Given the description of an element on the screen output the (x, y) to click on. 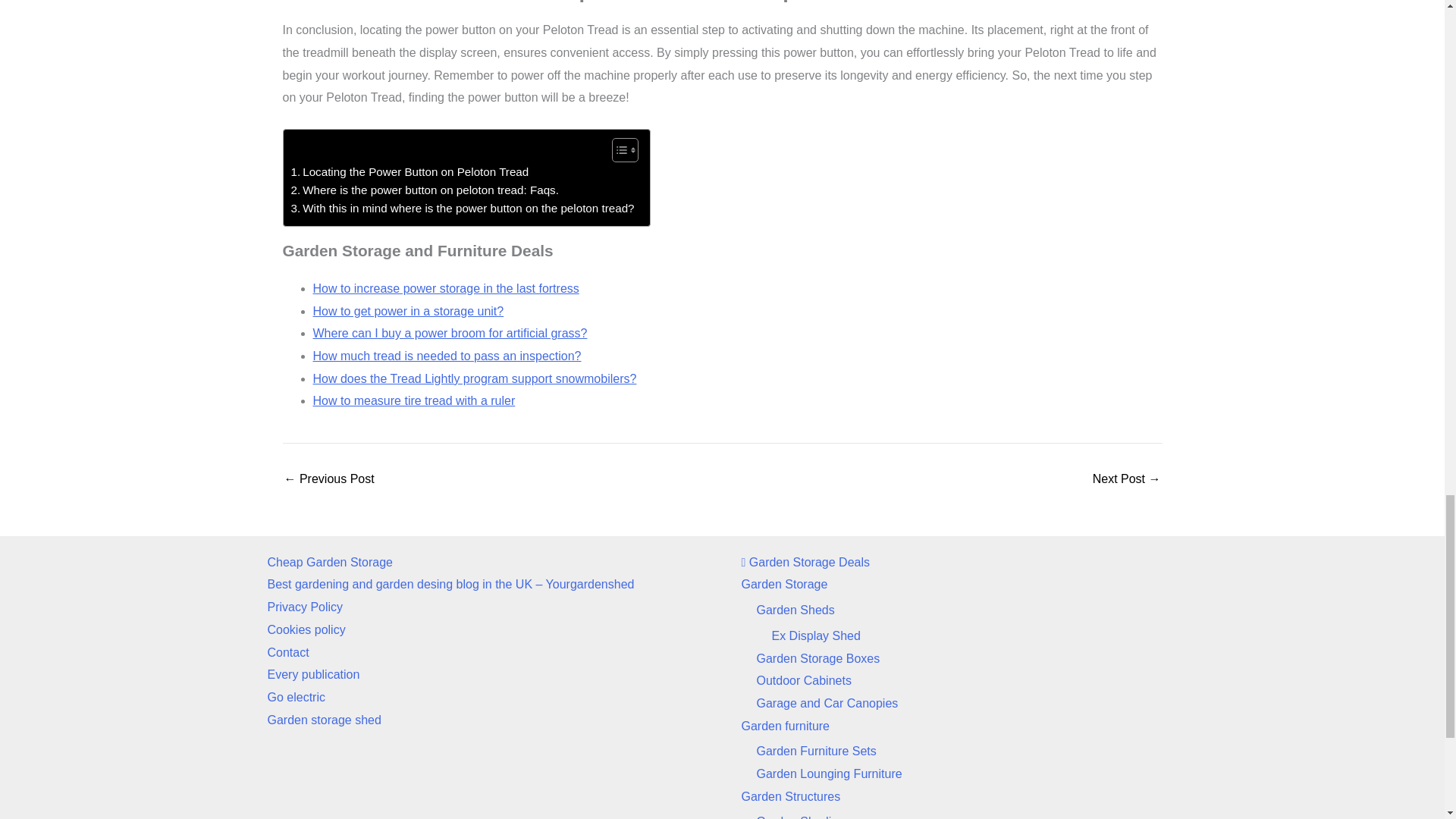
Where is the power button on peloton tread: Faqs. (425, 189)
How to trim a pine tree that is too tall (328, 479)
How many sheds can I have on my property in Toronto? (1126, 479)
Locating the Power Button on Peloton Tread (410, 171)
